Given the description of an element on the screen output the (x, y) to click on. 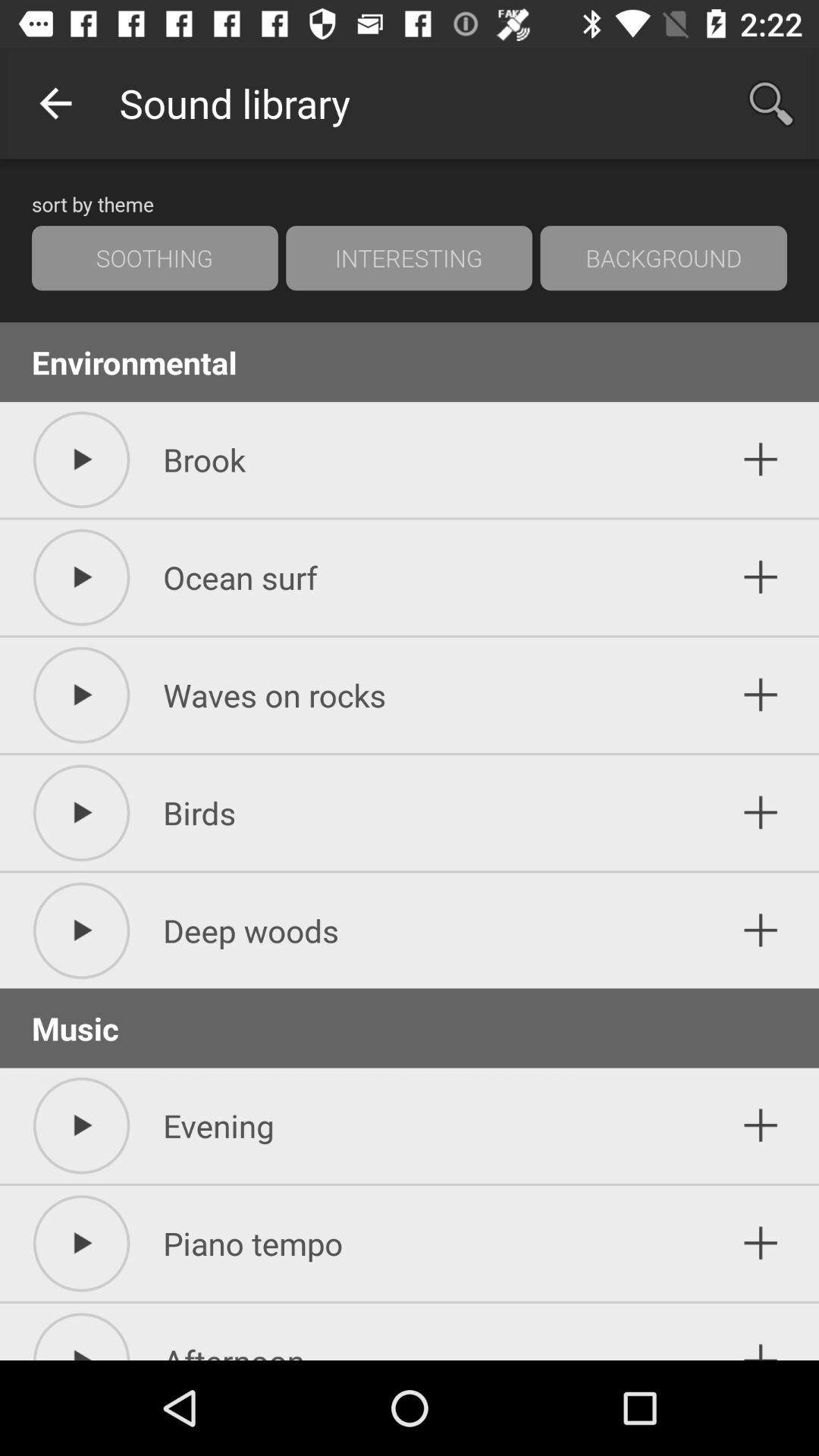
click to add symbol (761, 1243)
